Given the description of an element on the screen output the (x, y) to click on. 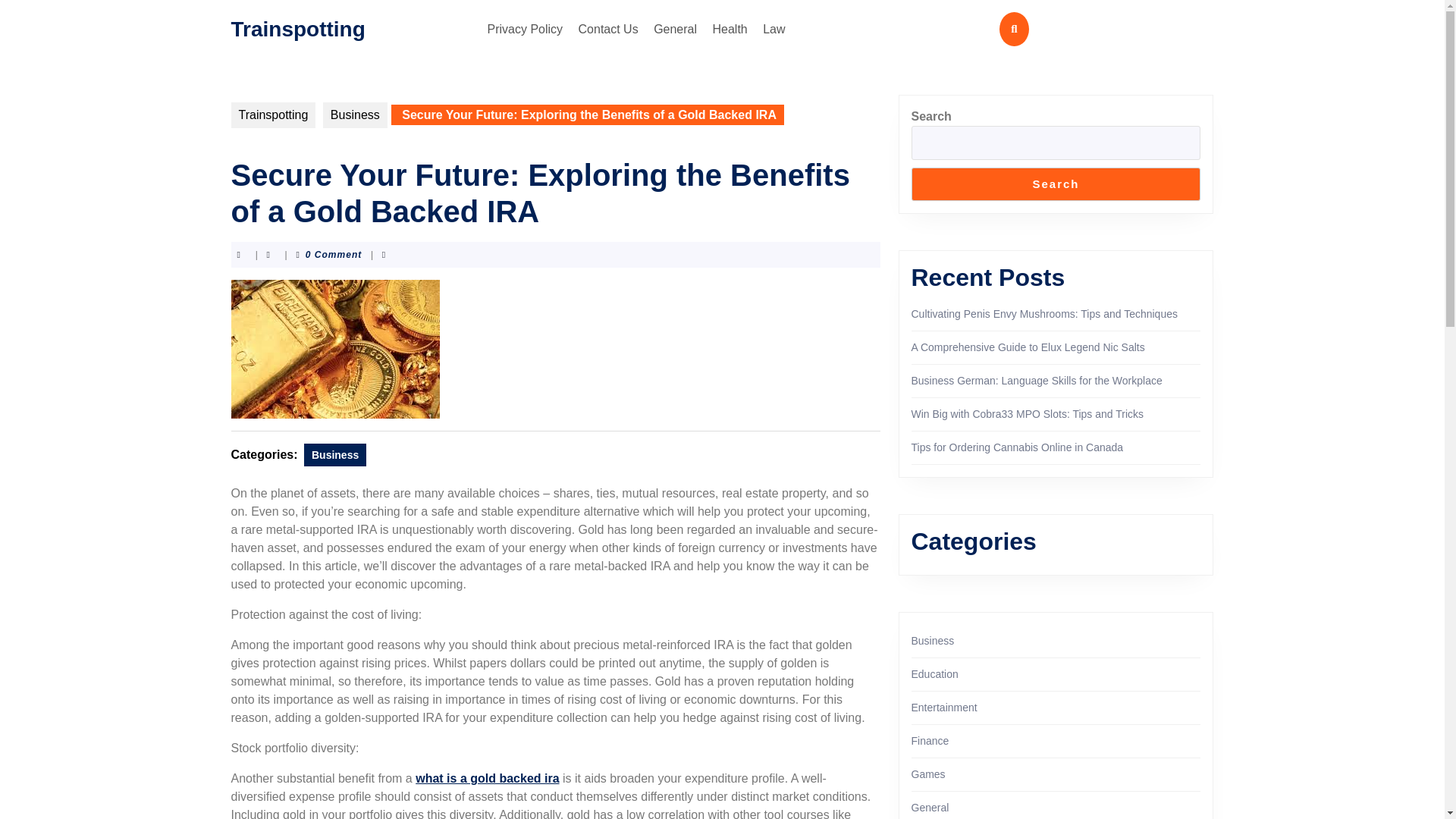
Business (335, 454)
A Comprehensive Guide to Elux Legend Nic Salts (1027, 346)
Business German: Language Skills for the Workplace (1036, 380)
Law (773, 28)
Cultivating Penis Envy Mushrooms: Tips and Techniques (1044, 313)
what is a gold backed ira (486, 778)
Contact Us (608, 28)
General (675, 28)
Win Big with Cobra33 MPO Slots: Tips and Tricks (1027, 413)
Health (730, 28)
Business (355, 114)
Trainspotting (297, 28)
Search (1056, 183)
Privacy Policy (524, 28)
Trainspotting (272, 114)
